Given the description of an element on the screen output the (x, y) to click on. 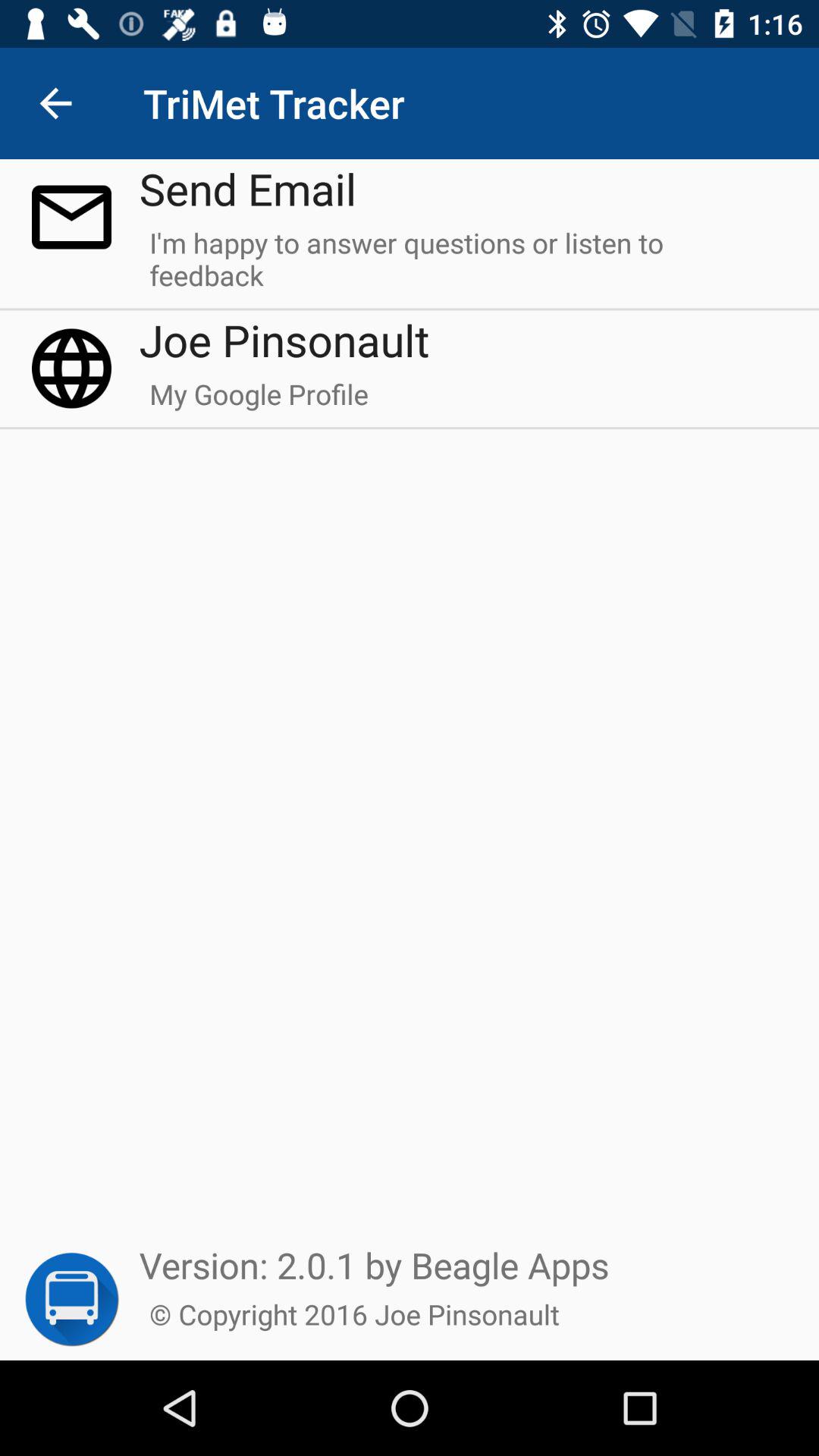
turn on the item above the joe pinsonault (464, 266)
